Given the description of an element on the screen output the (x, y) to click on. 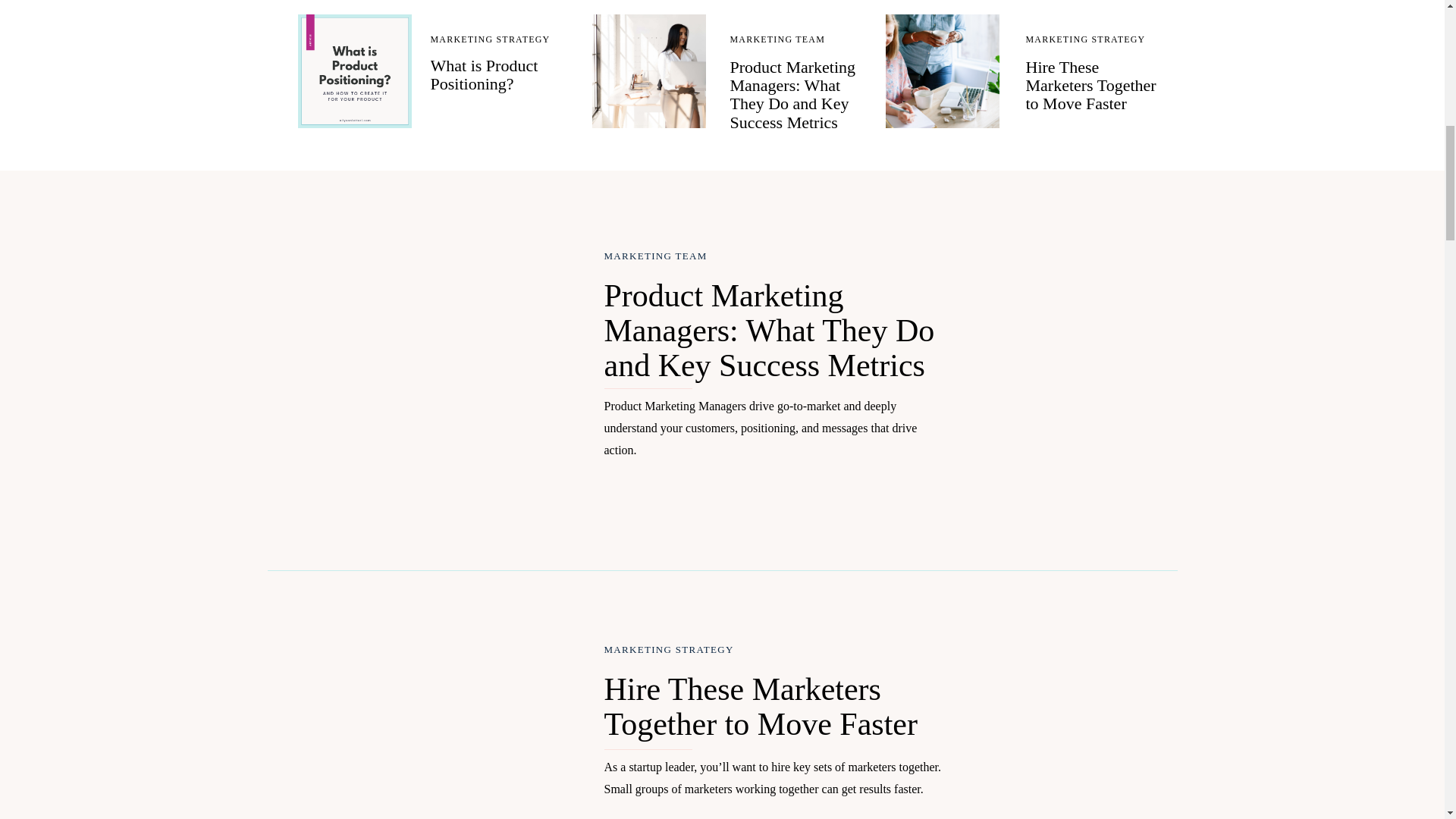
MARKETING STRATEGY (1084, 39)
What is Product Positioning? (484, 74)
What is Product Positioning? (353, 70)
Hire These Marketers Together to Move Faster (1090, 85)
MARKETING TEAM (655, 255)
Hire These Marketers Together to Move Faster (941, 70)
MARKETING STRATEGY (490, 39)
MARKETING TEAM (777, 39)
